Given the description of an element on the screen output the (x, y) to click on. 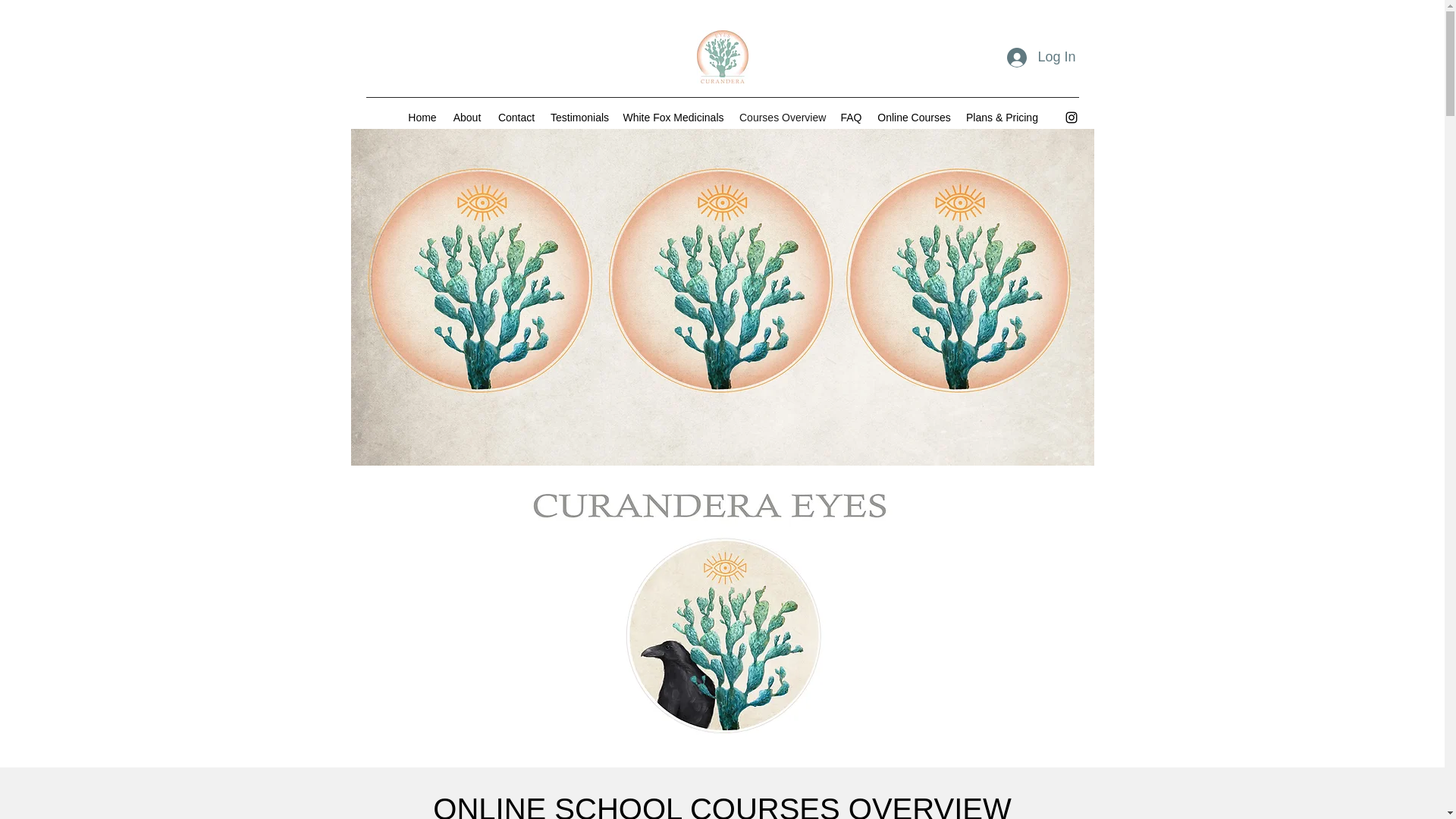
Log In (1040, 57)
White Fox Medicinals (673, 117)
About (466, 117)
Online Courses (913, 117)
FAQ (850, 117)
Contact (516, 117)
Courses Overview (782, 117)
Testimonials (578, 117)
Home (422, 117)
